Given the description of an element on the screen output the (x, y) to click on. 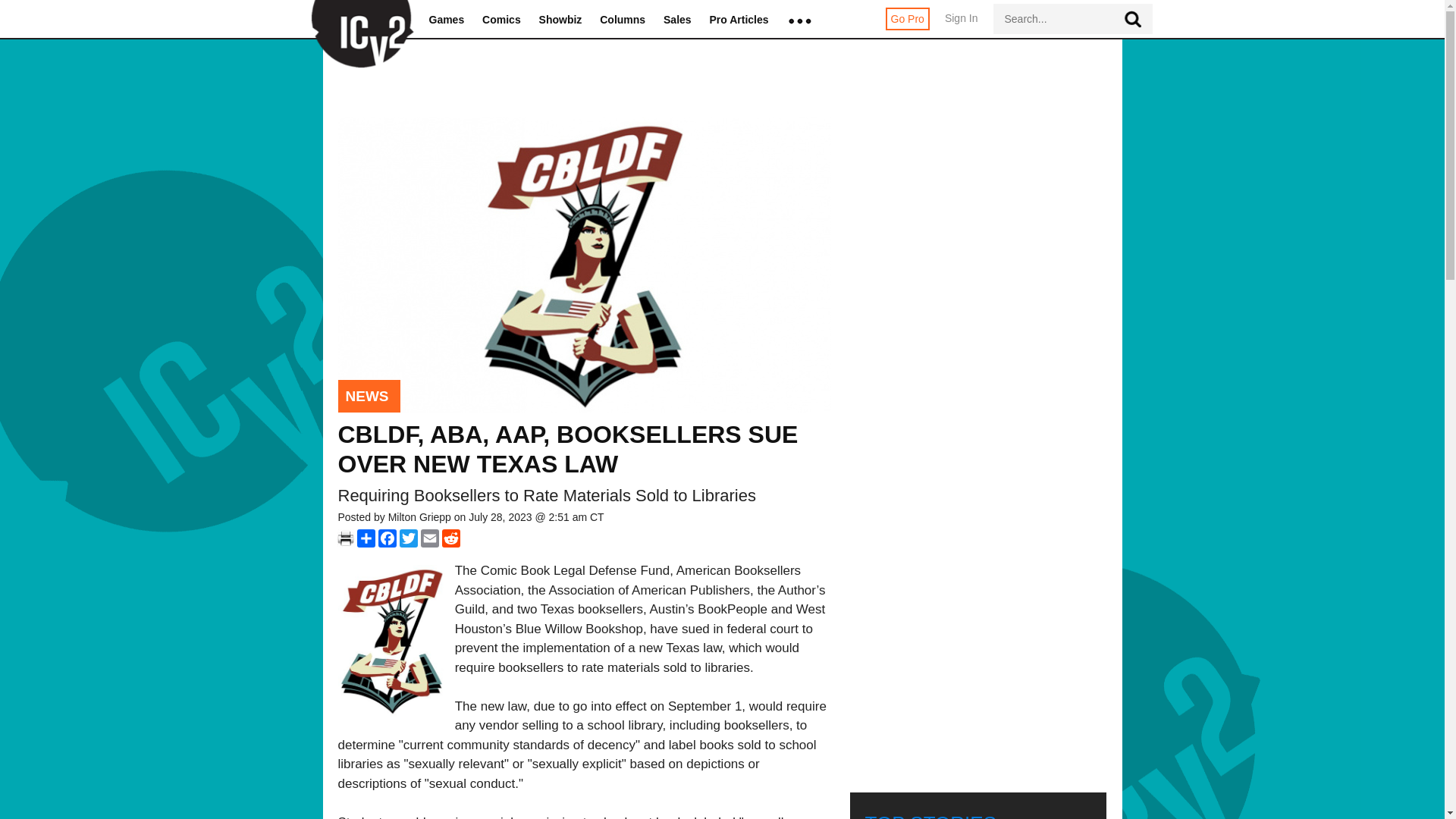
Go Pro (907, 18)
Twitter (408, 538)
CBLDF, ABA, AAP, BOOKSELLERS SUE OVER NEW TEXAS LAW (567, 448)
ICv2 (357, 19)
Pro Articles (739, 20)
Showbiz (560, 20)
Email (429, 538)
Sign In (961, 25)
Facebook (386, 538)
Reddit (450, 538)
